Given the description of an element on the screen output the (x, y) to click on. 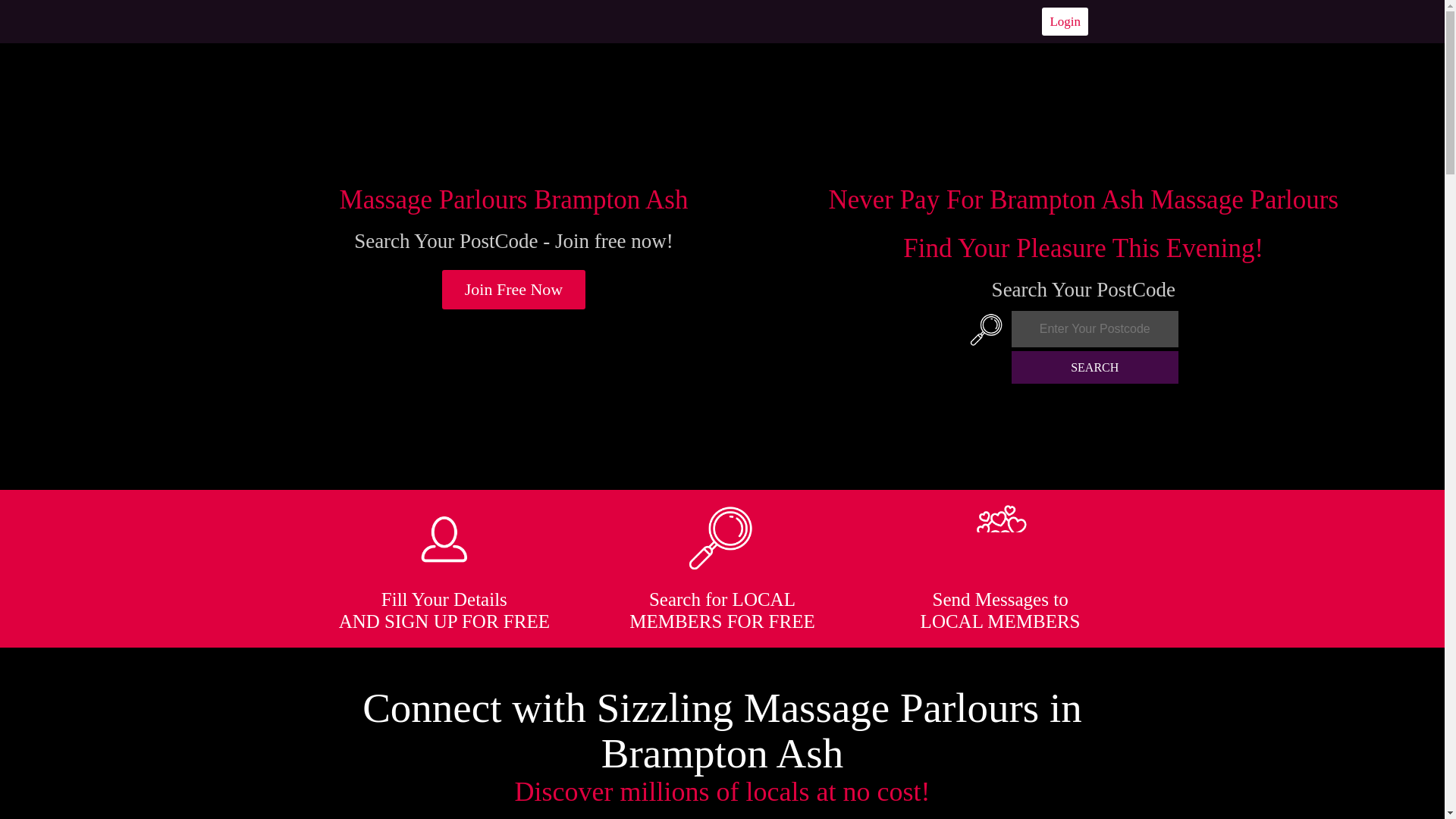
Join Free Now (514, 289)
Join (514, 289)
Login (1064, 21)
SEARCH (1094, 367)
Login (1064, 21)
